Given the description of an element on the screen output the (x, y) to click on. 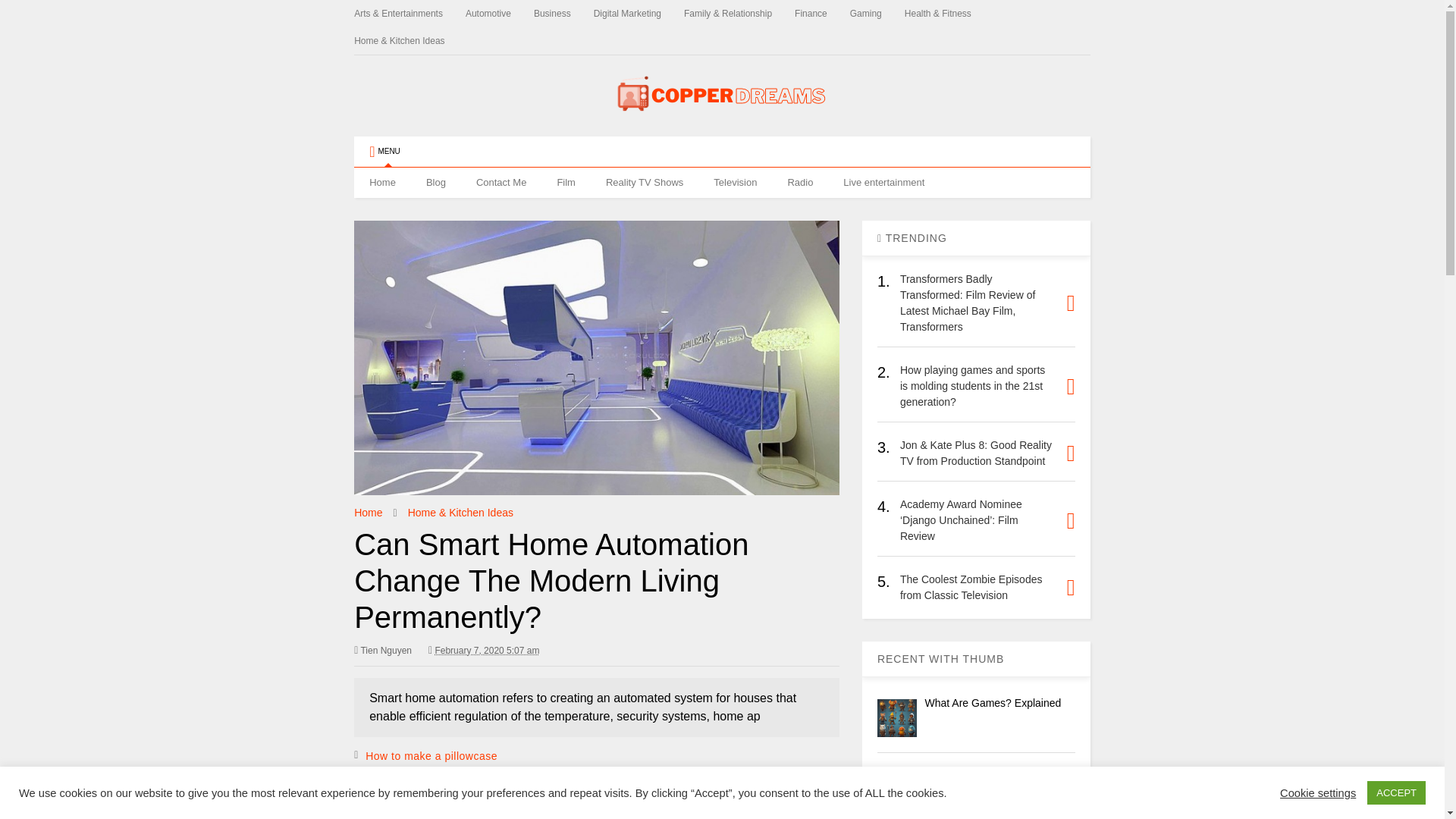
Gaming (877, 13)
Digital Marketing (639, 13)
MENU (383, 151)
Radio (799, 182)
Film (566, 182)
How to make a pillowcase (431, 756)
Blog (435, 182)
Live entertainment (883, 182)
Copper Dreams (721, 116)
Reality TV Shows (644, 182)
What Are Games? Explained (897, 717)
December 30, 2023 2:39 am (485, 650)
How to make a pillowcase (986, 778)
Television (734, 182)
What Are Games? Explained (992, 702)
